Given the description of an element on the screen output the (x, y) to click on. 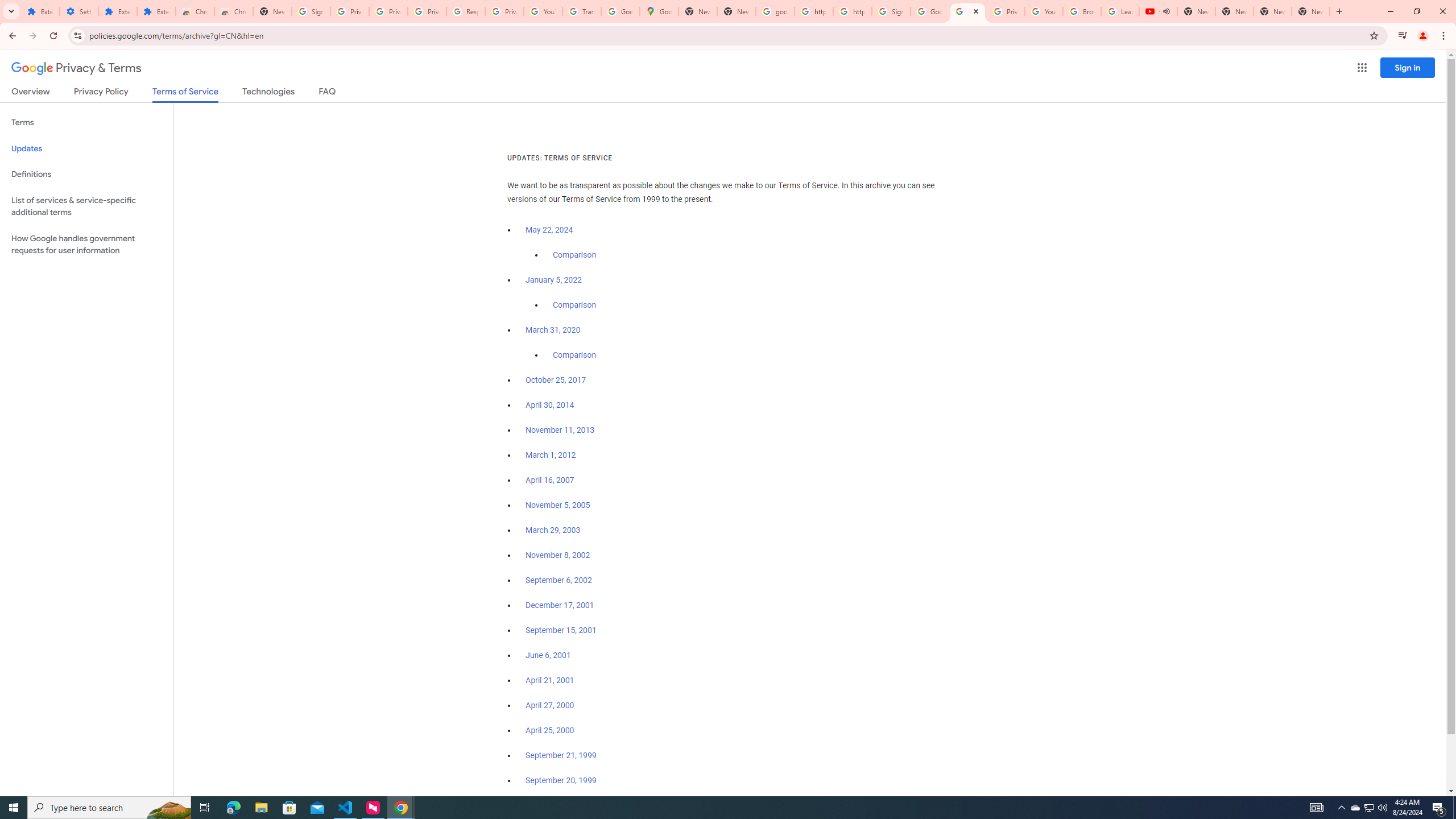
September 21, 1999 (560, 755)
June 6, 2001 (547, 655)
Definitions (86, 174)
Extensions (40, 11)
September 6, 2002 (558, 579)
YouTube (1043, 11)
Settings (79, 11)
Extensions (117, 11)
April 21, 2001 (550, 679)
